Given the description of an element on the screen output the (x, y) to click on. 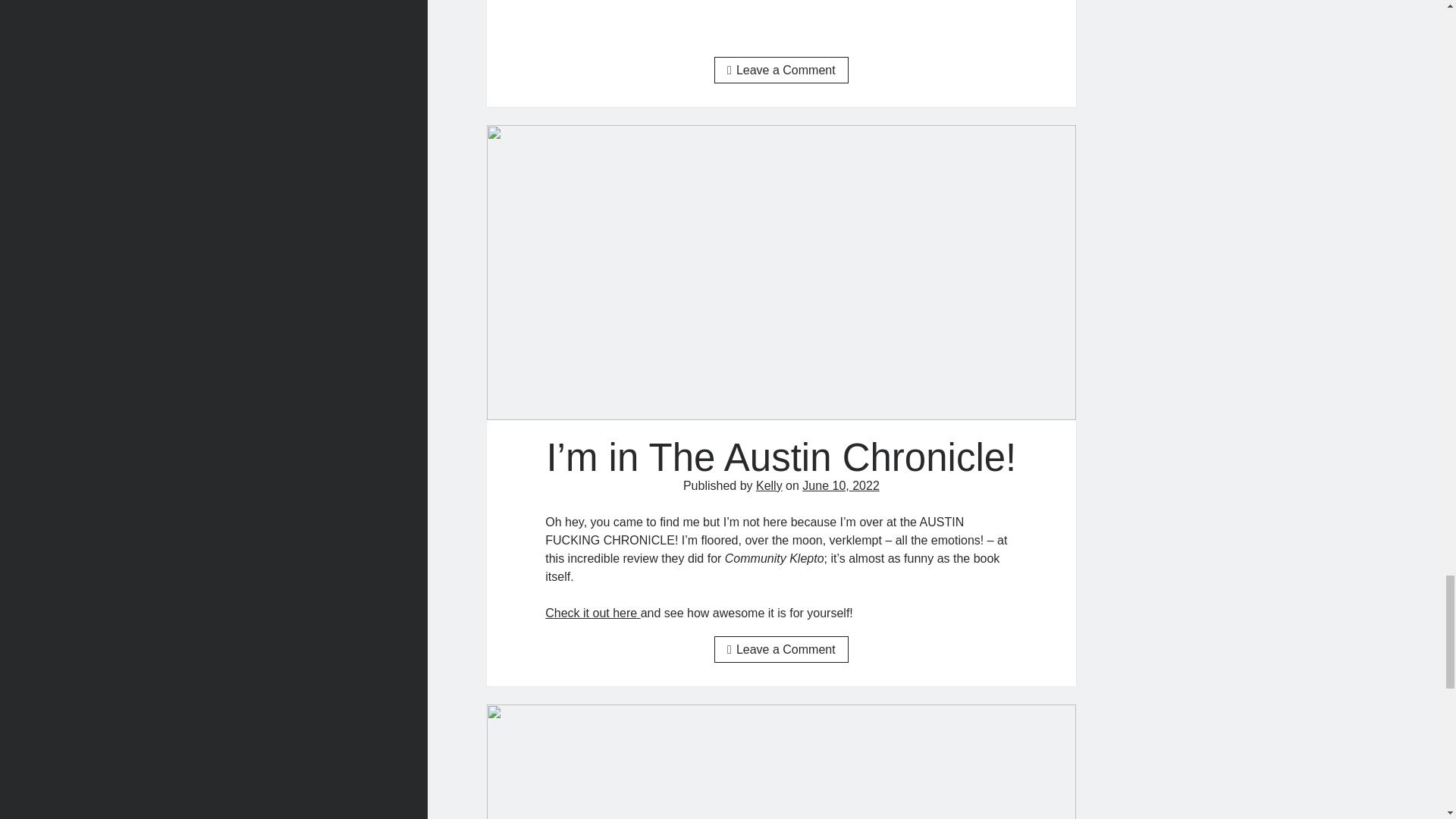
comment icon (731, 649)
comment icon (731, 70)
